Given the description of an element on the screen output the (x, y) to click on. 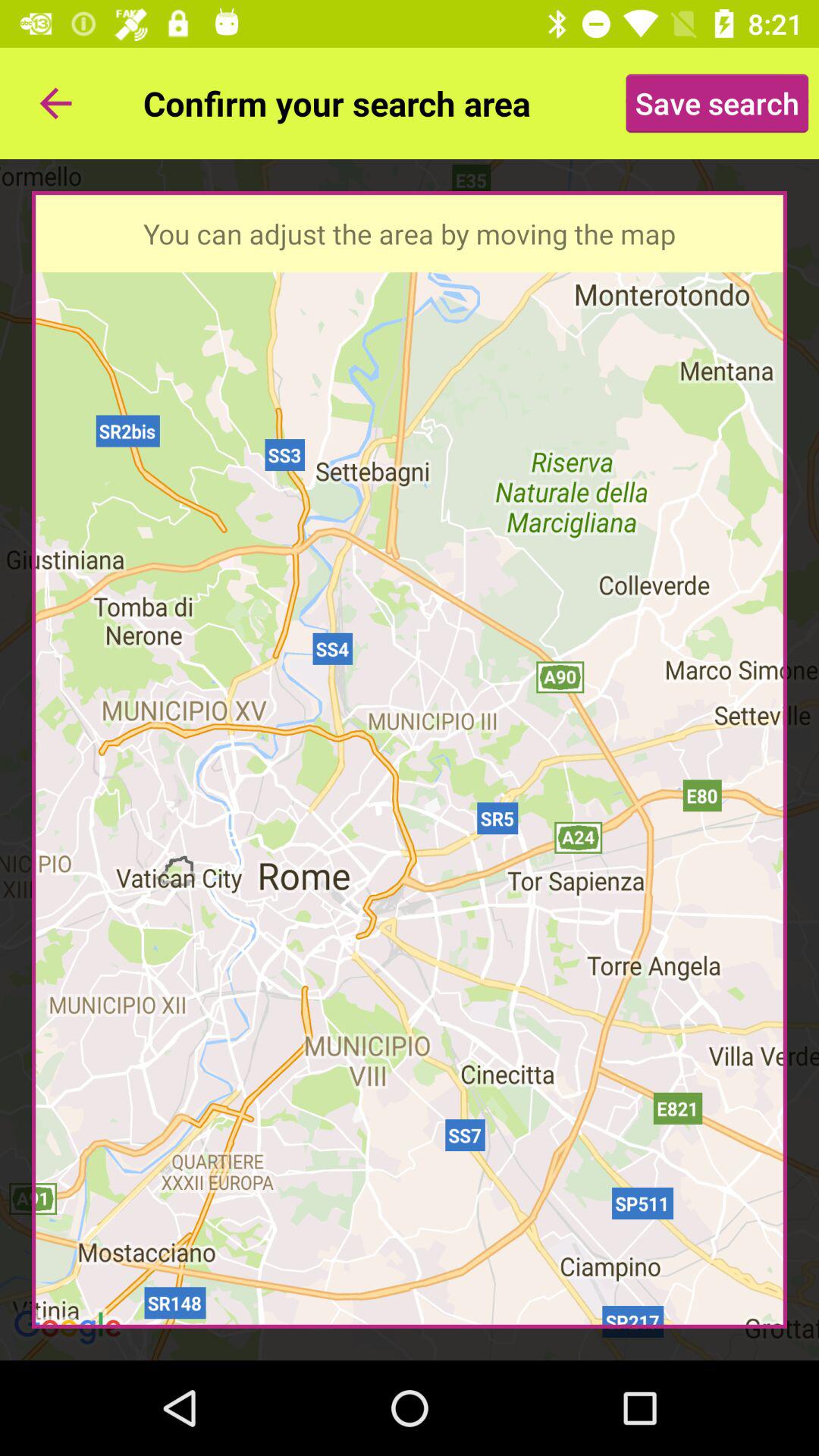
select icon at the top right corner (717, 103)
